Given the description of an element on the screen output the (x, y) to click on. 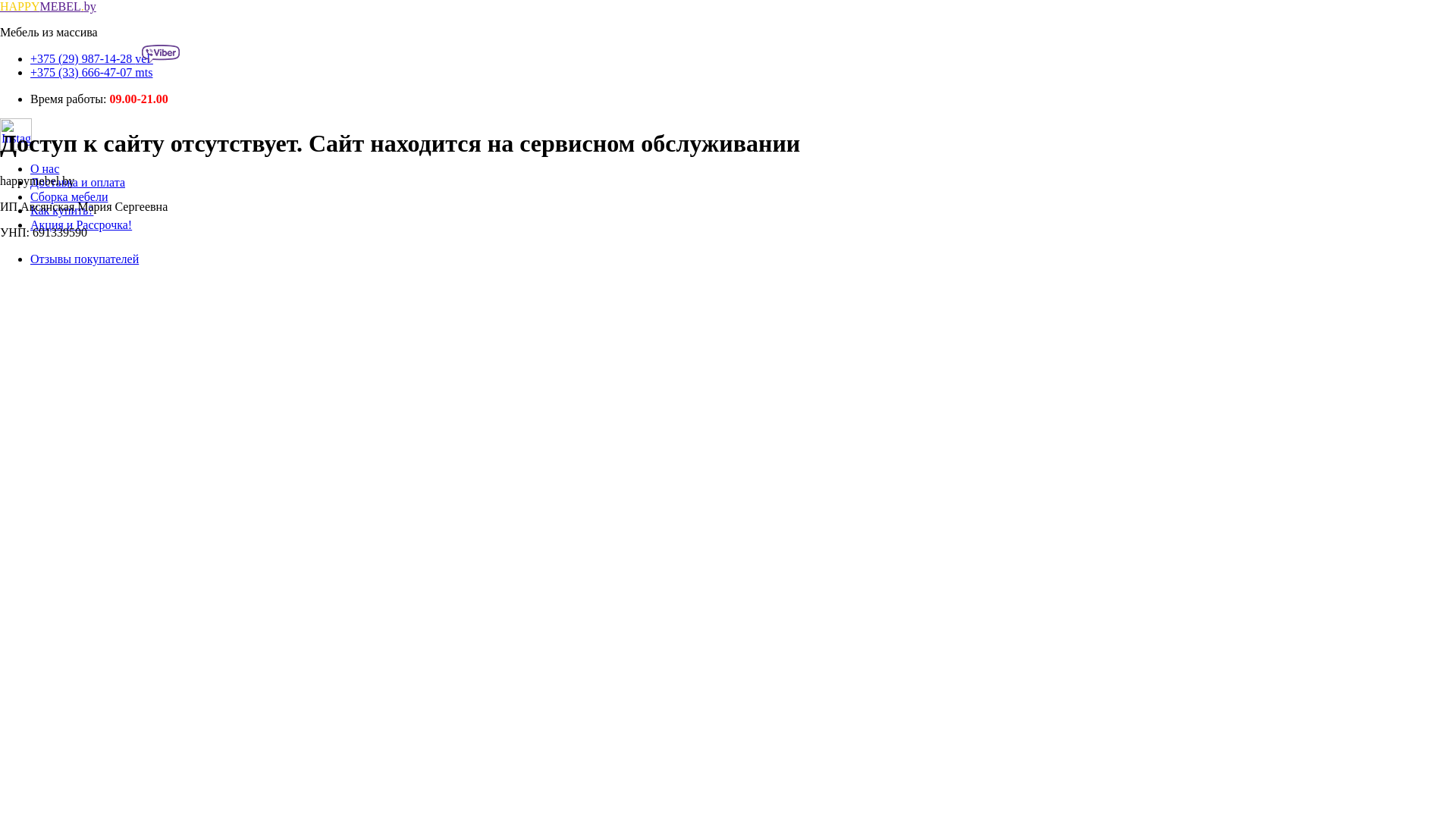
+375 (33) 666-47-07 mts Element type: text (91, 71)
HAPPYMEBEL.by Element type: text (48, 6)
+375 (29) 987-14-28 vel Element type: text (104, 58)
